Given the description of an element on the screen output the (x, y) to click on. 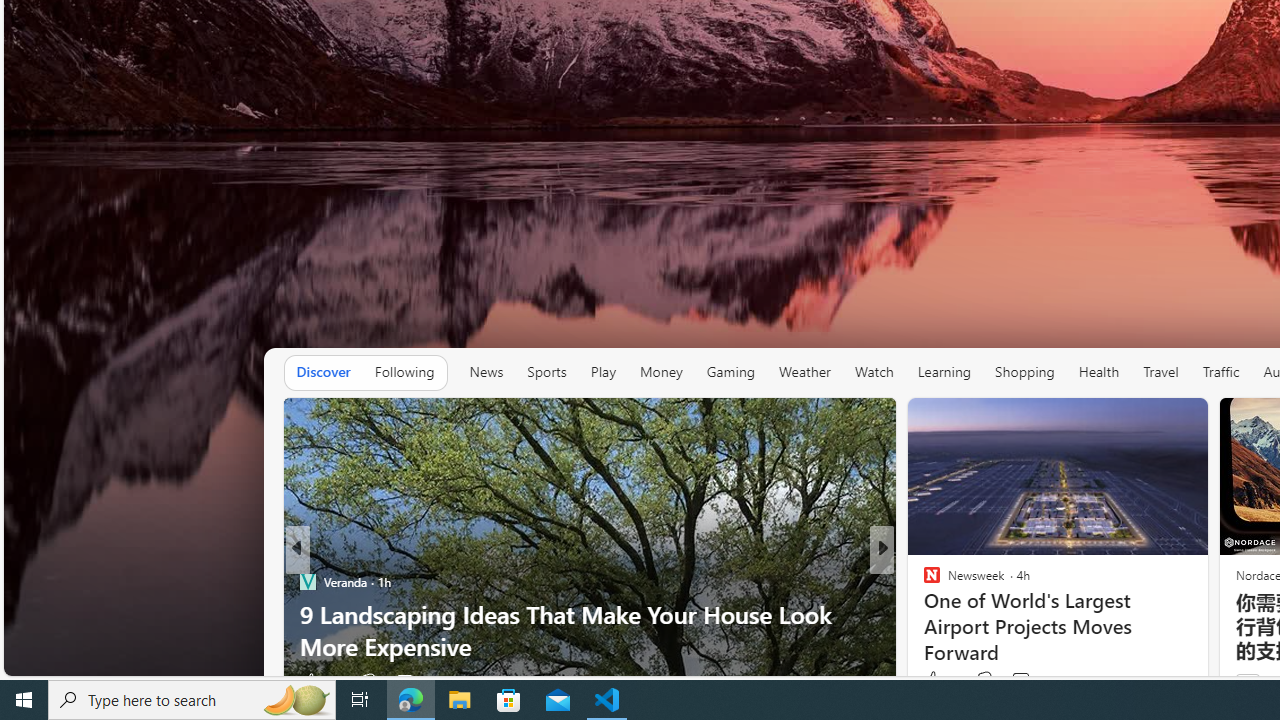
House Beautiful (923, 581)
View comments 22 Comment (1019, 681)
215 Like (936, 681)
793 Like (936, 681)
View comments 65 Comment (1019, 681)
